Given the description of an element on the screen output the (x, y) to click on. 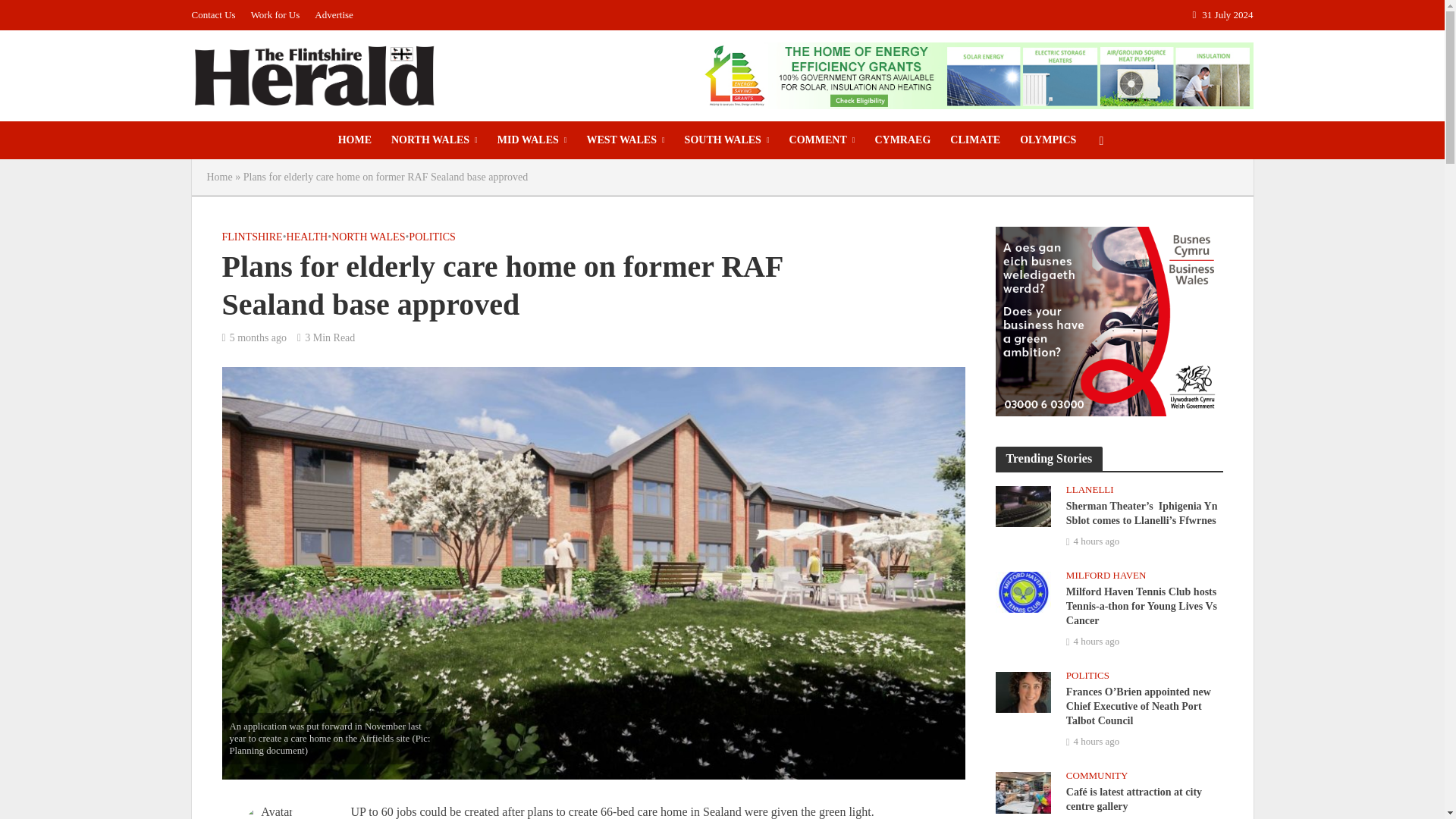
MID WALES (531, 139)
WEST WALES (625, 139)
Advertise (334, 15)
OLYMPICS (1048, 139)
Contact Us (216, 15)
NORTH WALES (434, 139)
CYMRAEG (902, 139)
HOME (355, 139)
COMMENT (821, 139)
SOUTH WALES (726, 139)
Work for Us (275, 15)
CLIMATE (975, 139)
